Given the description of an element on the screen output the (x, y) to click on. 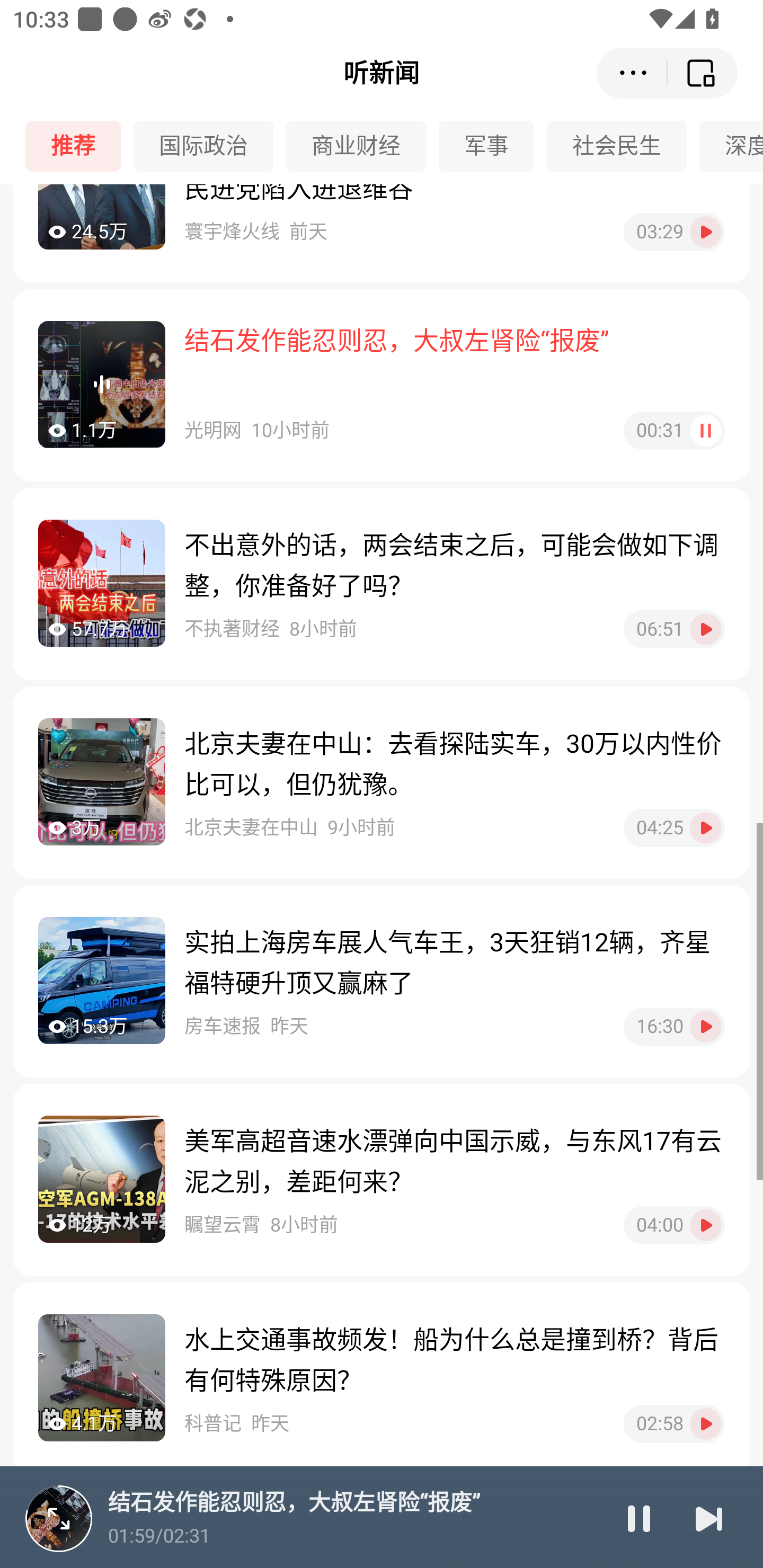
更多 (631, 72)
返回 (702, 72)
推荐 (79, 146)
国际政治 (209, 146)
商业财经 (362, 146)
军事 (492, 146)
社会民生 (623, 146)
24.5万 台岛军头跳出来，给解放军划红线，专家坦言：民进党陷入进退维谷 寰宇烽火线前天 03:29 (381, 233)
03:29 (673, 231)
1.1万 结石发作能忍则忍，大叔左肾险“报废” 光明网10小时前 00:32 (381, 384)
00:32 (673, 430)
06:51 (673, 629)
04:25 (673, 827)
15.3万 实拍上海房车展人气车王，3天狂销12辆，齐星福特硬升顶又赢麻了 房车速报昨天 16:30 (381, 981)
16:30 (673, 1026)
12万 美军高超音速水漂弹向中国示威，与东风17有云泥之别，差距何来？ 瞩望云霄8小时前 04:00 (381, 1179)
04:00 (673, 1224)
4.1万 水上交通事故频发！船为什么总是撞到桥？背后有何特殊原因？ 科普记昨天 02:58 (381, 1378)
02:58 (673, 1423)
音频播放页 结石发作能忍则忍，大叔左肾险“报废” 01:58/02:31 暂停 下一篇 (381, 1517)
暂停 (638, 1518)
下一篇 (708, 1518)
